Given the description of an element on the screen output the (x, y) to click on. 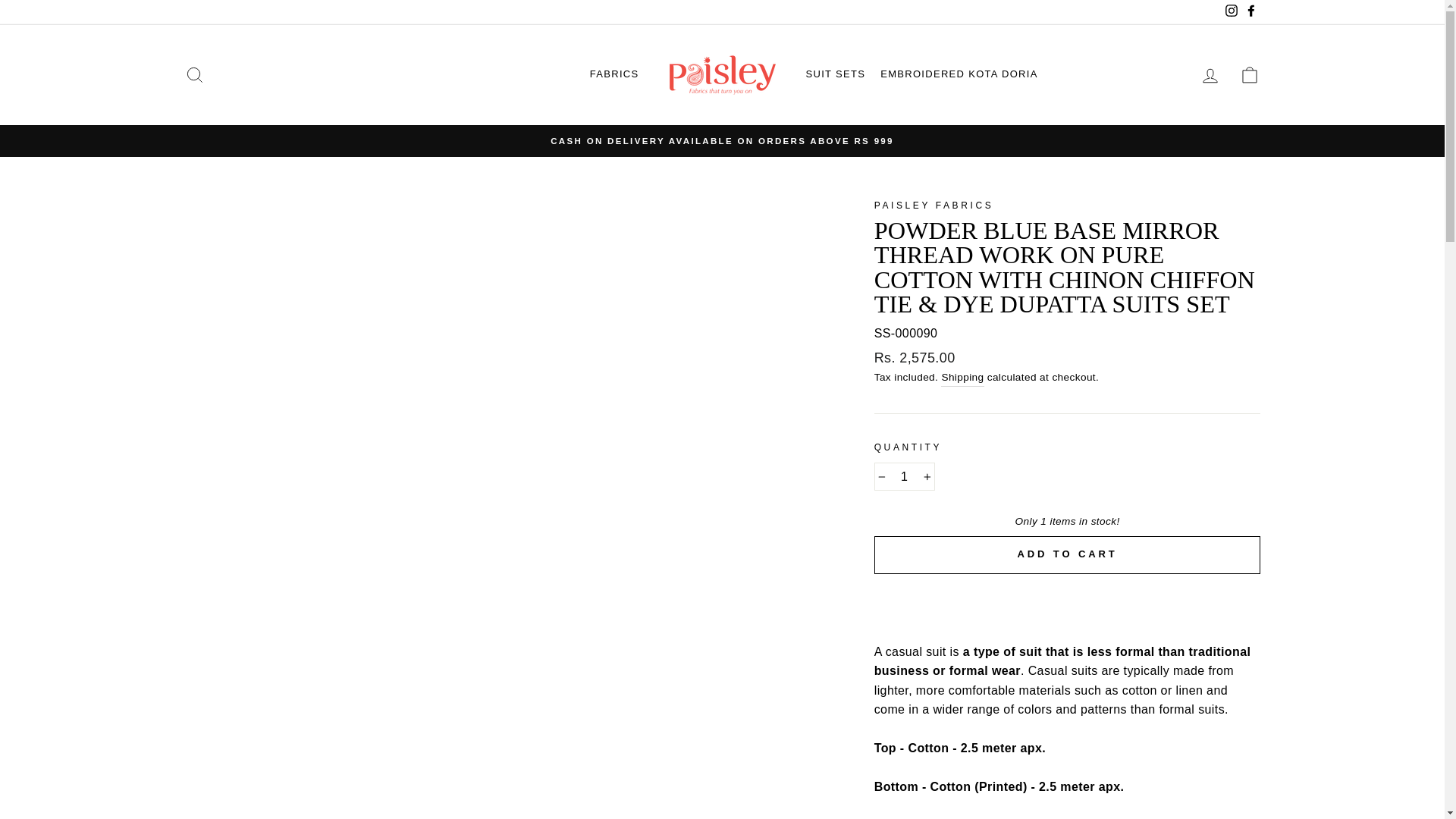
Shipping (962, 377)
1 (904, 476)
EMBROIDERED KOTA DORIA (958, 74)
PAISLEY FABRICS (934, 204)
PAISLEY FABRICS (934, 204)
Facebook (1250, 12)
CART (1249, 74)
Paisley on Facebook (1250, 12)
Paisley on Instagram (1230, 12)
SUIT SETS (834, 74)
Instagram (1230, 12)
SEARCH (194, 74)
FABRICS (614, 74)
LOG IN (1210, 74)
